Given the description of an element on the screen output the (x, y) to click on. 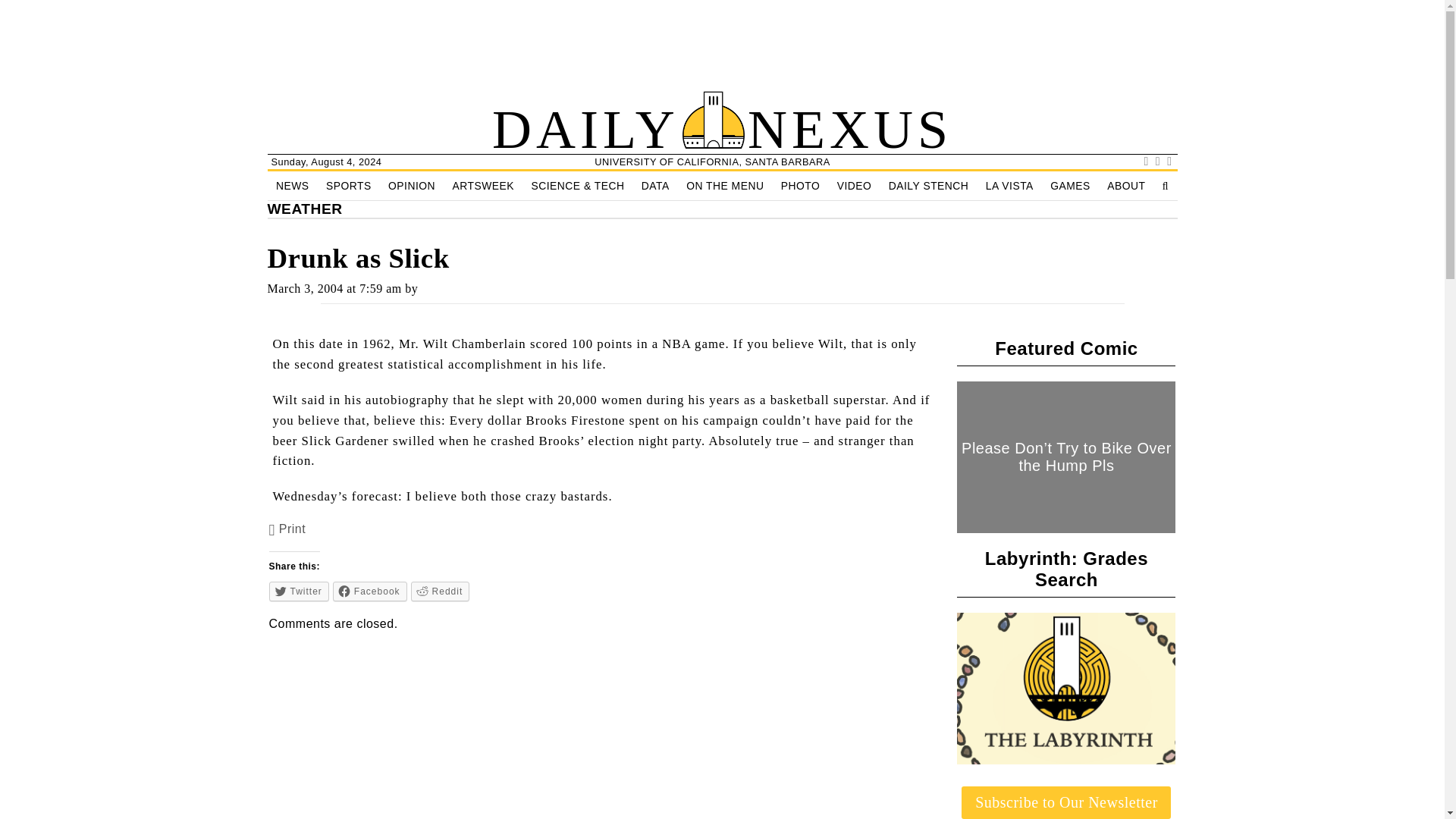
Click to share on Reddit (440, 591)
Click to share on Facebook (370, 591)
Click to share on Twitter (299, 591)
